Given the description of an element on the screen output the (x, y) to click on. 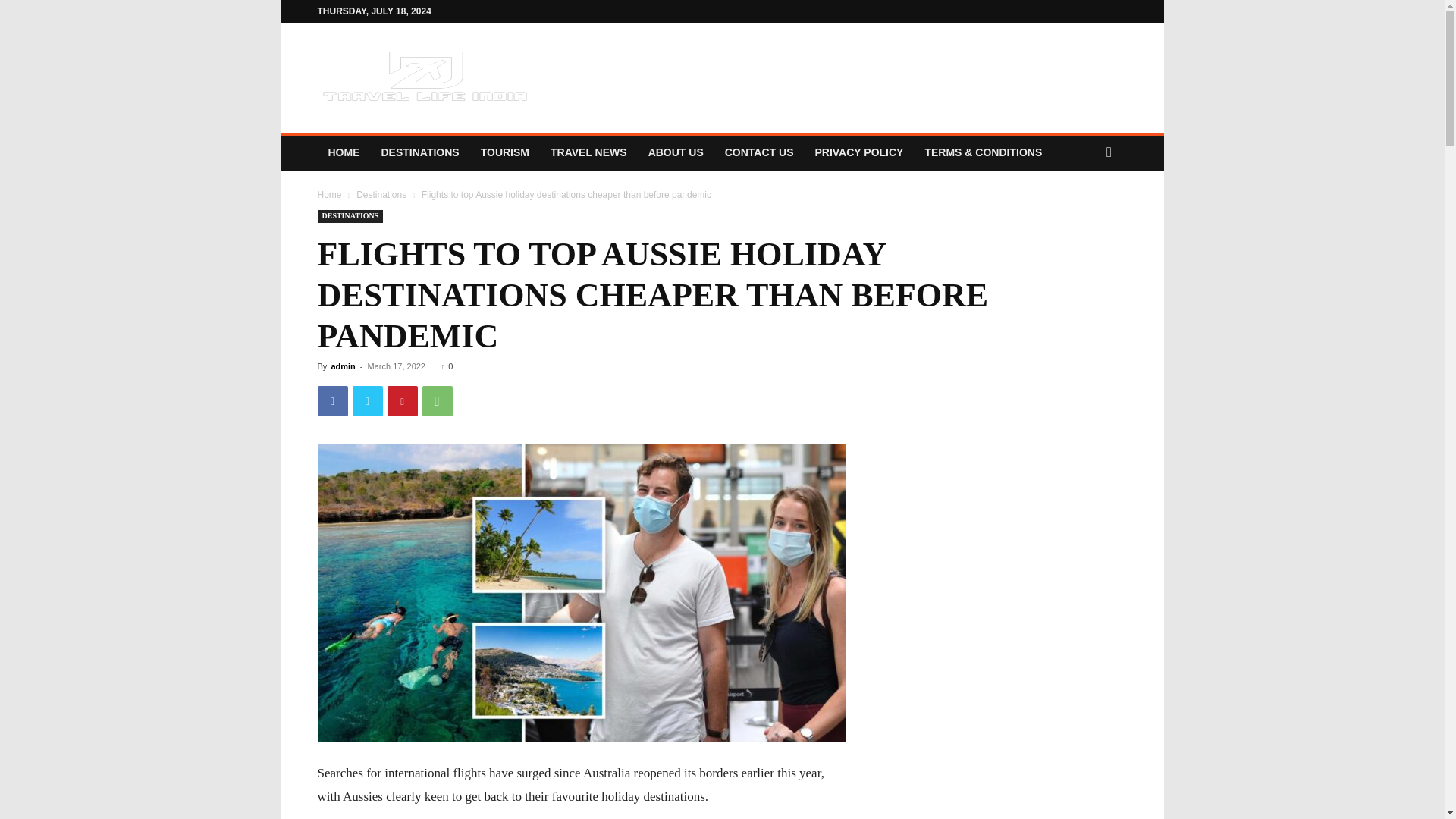
TOURISM (505, 152)
WhatsApp (436, 400)
Destinations (381, 194)
DESTINATIONS (349, 215)
Home (328, 194)
DESTINATIONS (418, 152)
PRIVACY POLICY (858, 152)
admin (342, 366)
HOME (343, 152)
ABOUT US (675, 152)
Pinterest (401, 400)
Twitter (366, 400)
Search (1080, 213)
0 (447, 366)
TRAVEL NEWS (588, 152)
